Given the description of an element on the screen output the (x, y) to click on. 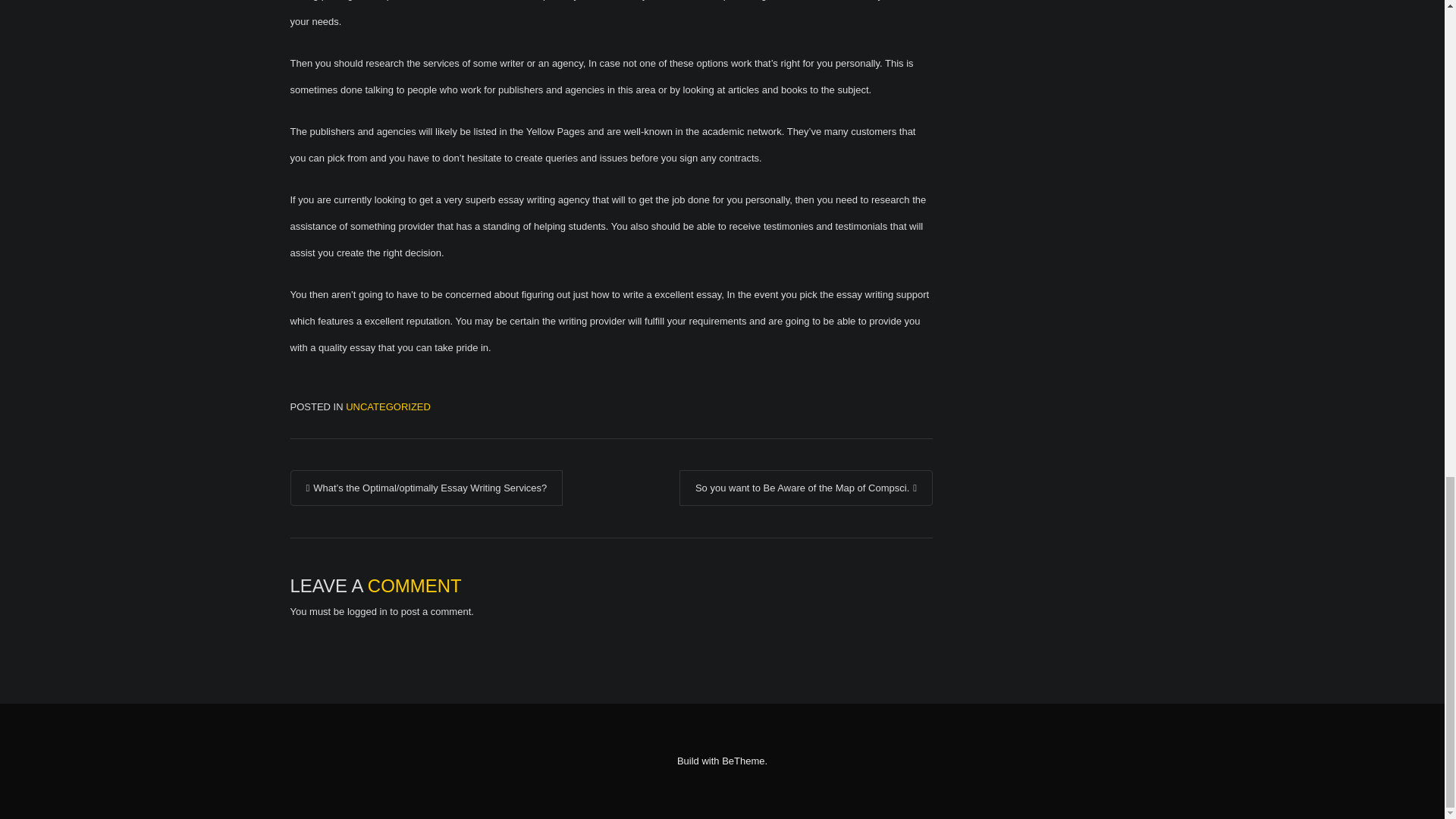
So you want to Be Aware of the Map of Compsci. (806, 488)
UNCATEGORIZED (388, 406)
logged in (367, 611)
BeTheme (743, 760)
